Given the description of an element on the screen output the (x, y) to click on. 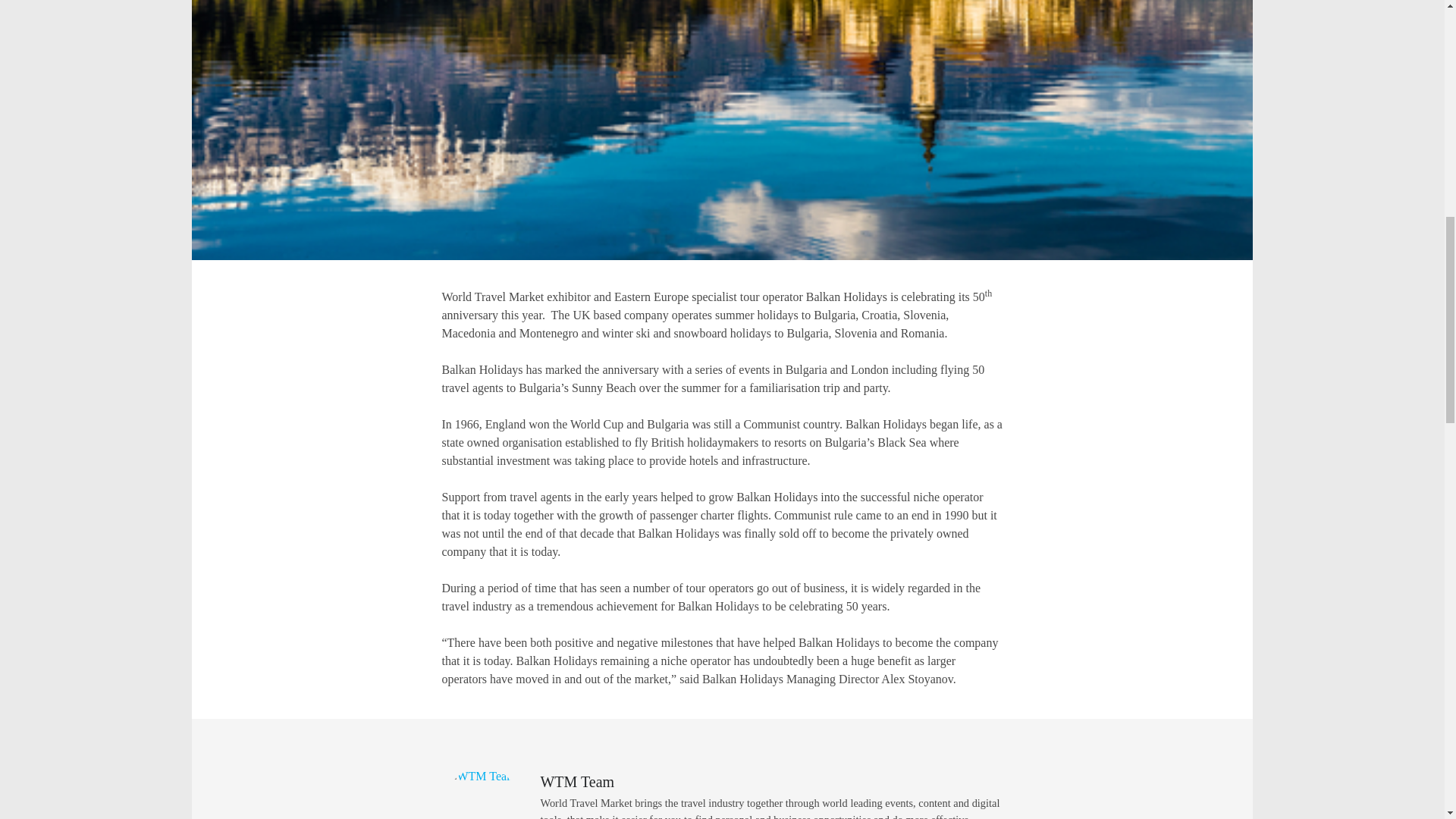
Posts by WTM Team (577, 781)
